Given the description of an element on the screen output the (x, y) to click on. 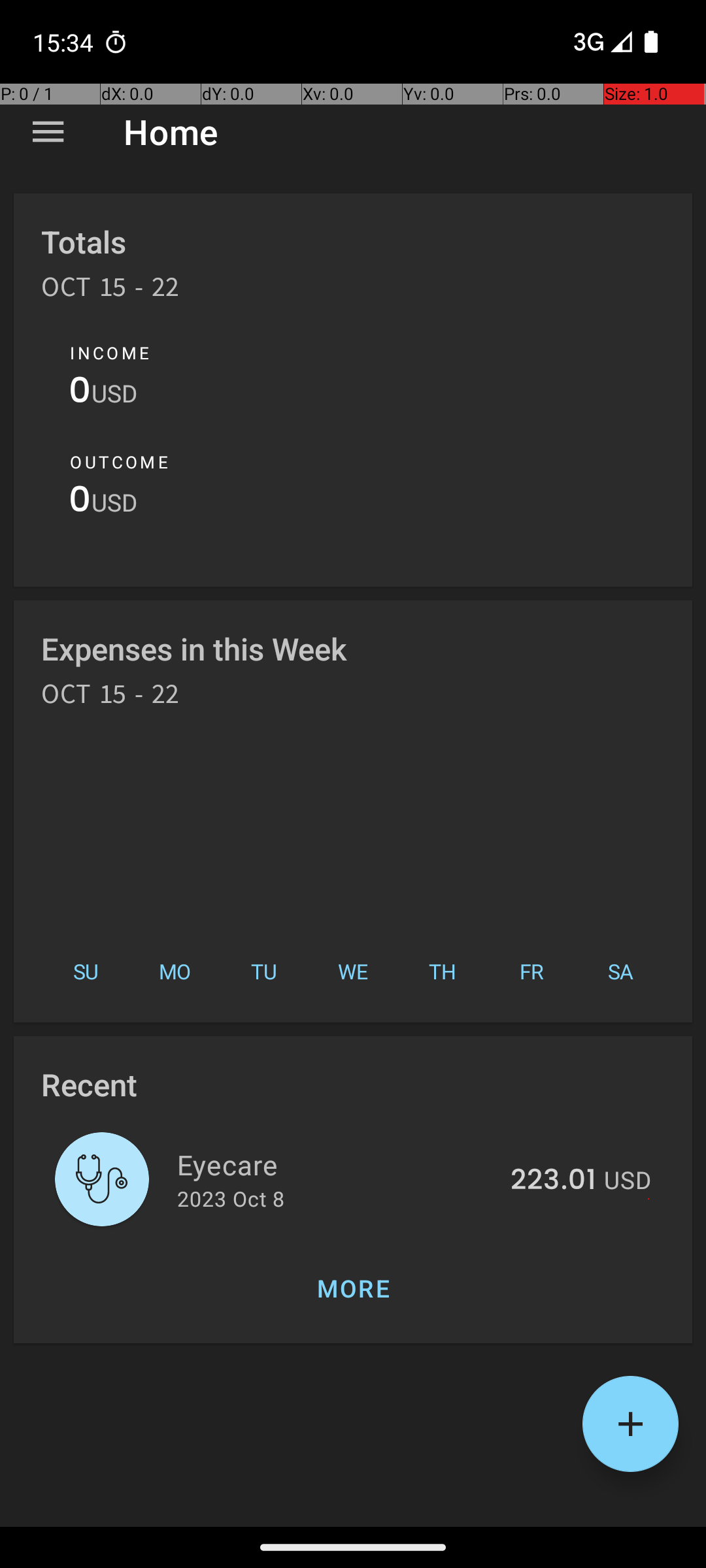
223.01 Element type: android.widget.TextView (552, 1180)
